Given the description of an element on the screen output the (x, y) to click on. 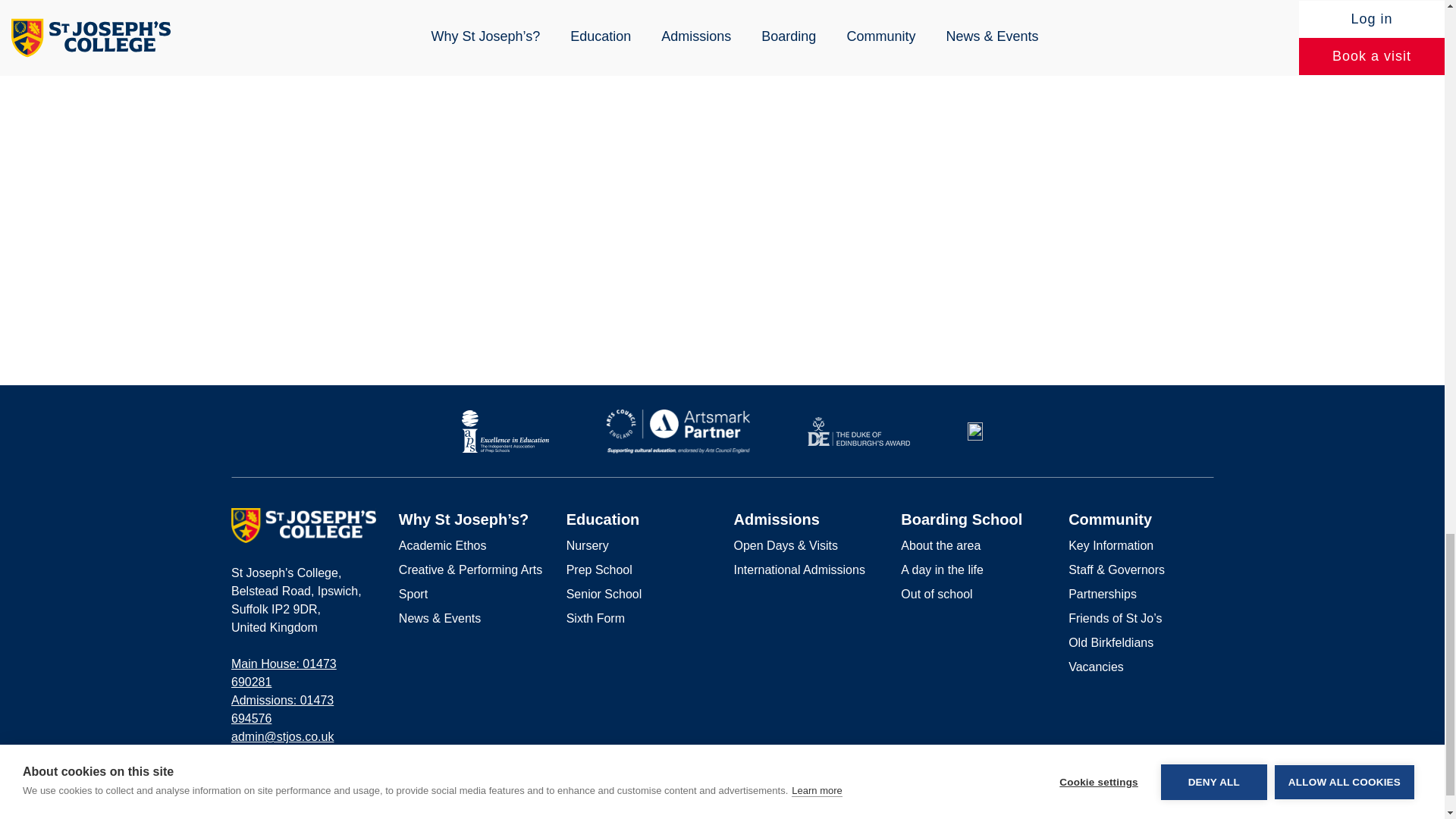
Instagram (1182, 797)
Facebook (1158, 797)
Twitter (1206, 797)
